Given the description of an element on the screen output the (x, y) to click on. 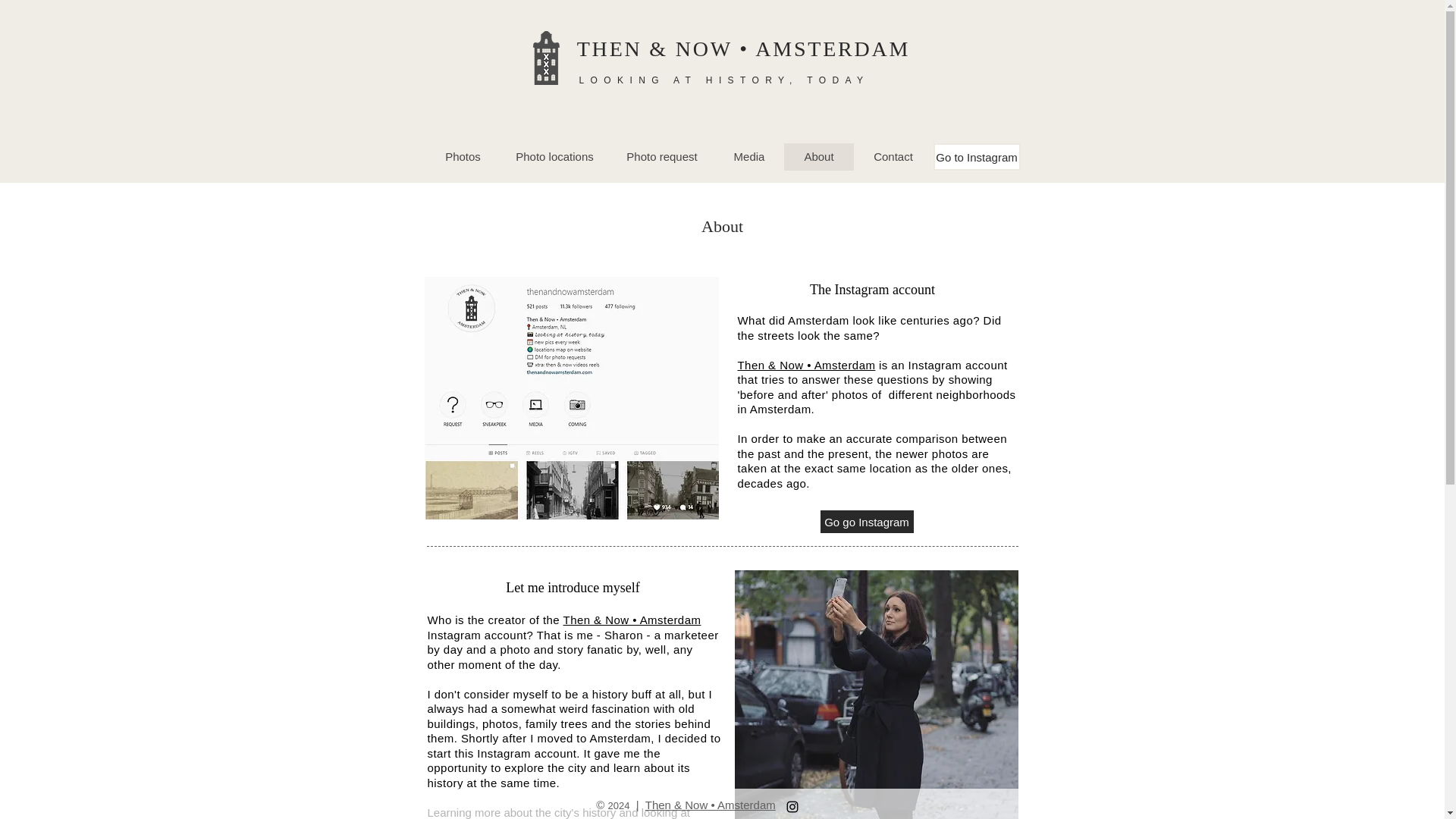
About (818, 156)
account IG screenshot.jpg (572, 397)
Photo request (662, 156)
LOOKING AT HISTORY, TODAY (724, 80)
Photos (462, 156)
Contact (893, 156)
Go go Instagram (867, 521)
Media (749, 156)
Go to Instagram (976, 156)
Photo locations (553, 156)
